Given the description of an element on the screen output the (x, y) to click on. 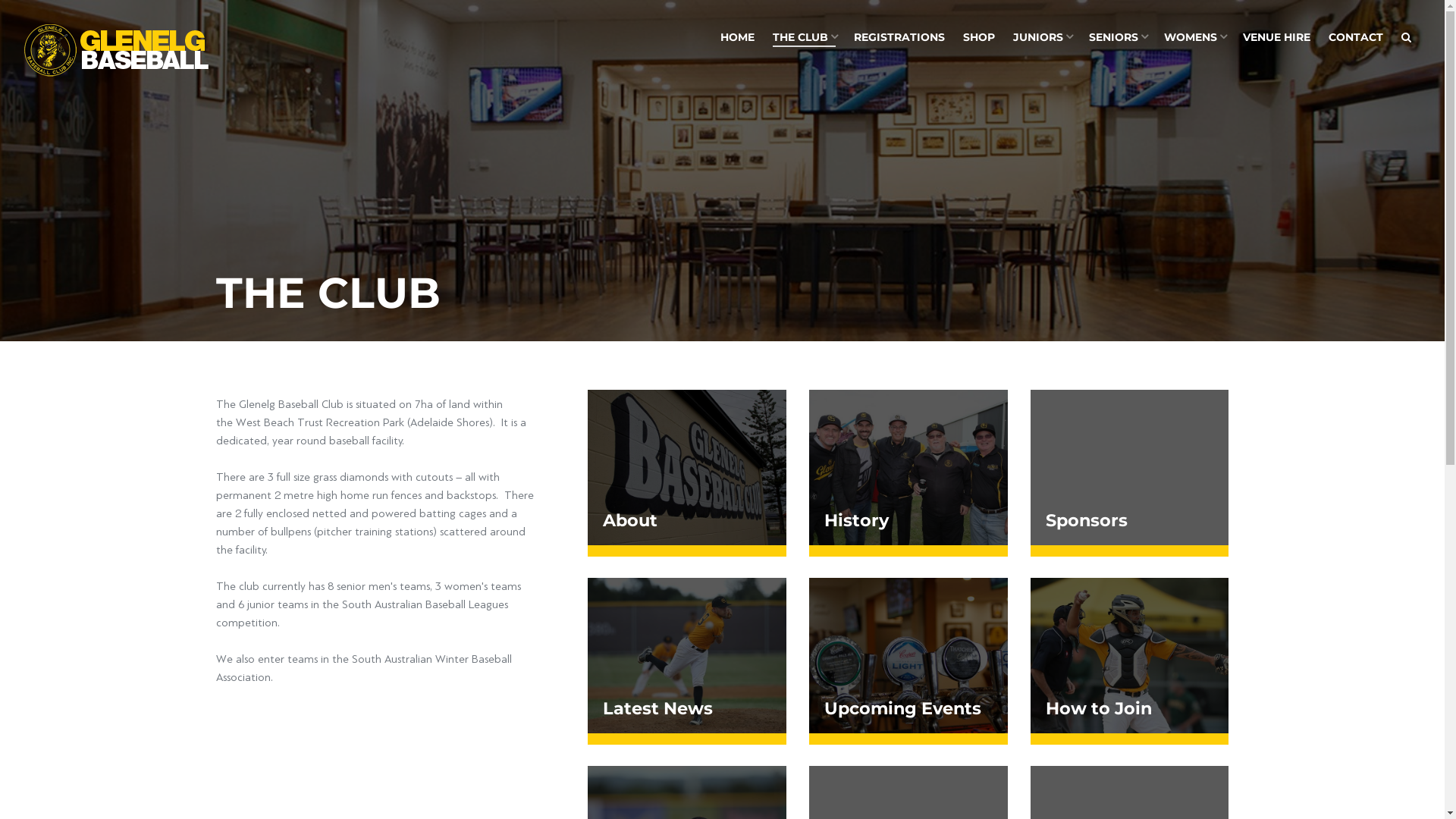
JUNIORS Element type: text (1041, 37)
VENUE HIRE Element type: text (1276, 37)
SHOP Element type: text (978, 37)
History Element type: text (908, 472)
WOMENS Element type: text (1193, 37)
Sponsors Element type: text (1129, 472)
How to Join Element type: text (1129, 660)
Latest News Element type: text (686, 660)
THE CLUB Element type: text (803, 38)
CONTACT Element type: text (1355, 37)
HOME Element type: text (737, 37)
Search Element type: hover (1406, 37)
Upcoming Events Element type: text (908, 660)
About Element type: text (686, 472)
REGISTRATIONS Element type: text (898, 37)
SENIORS Element type: text (1116, 37)
